Given the description of an element on the screen output the (x, y) to click on. 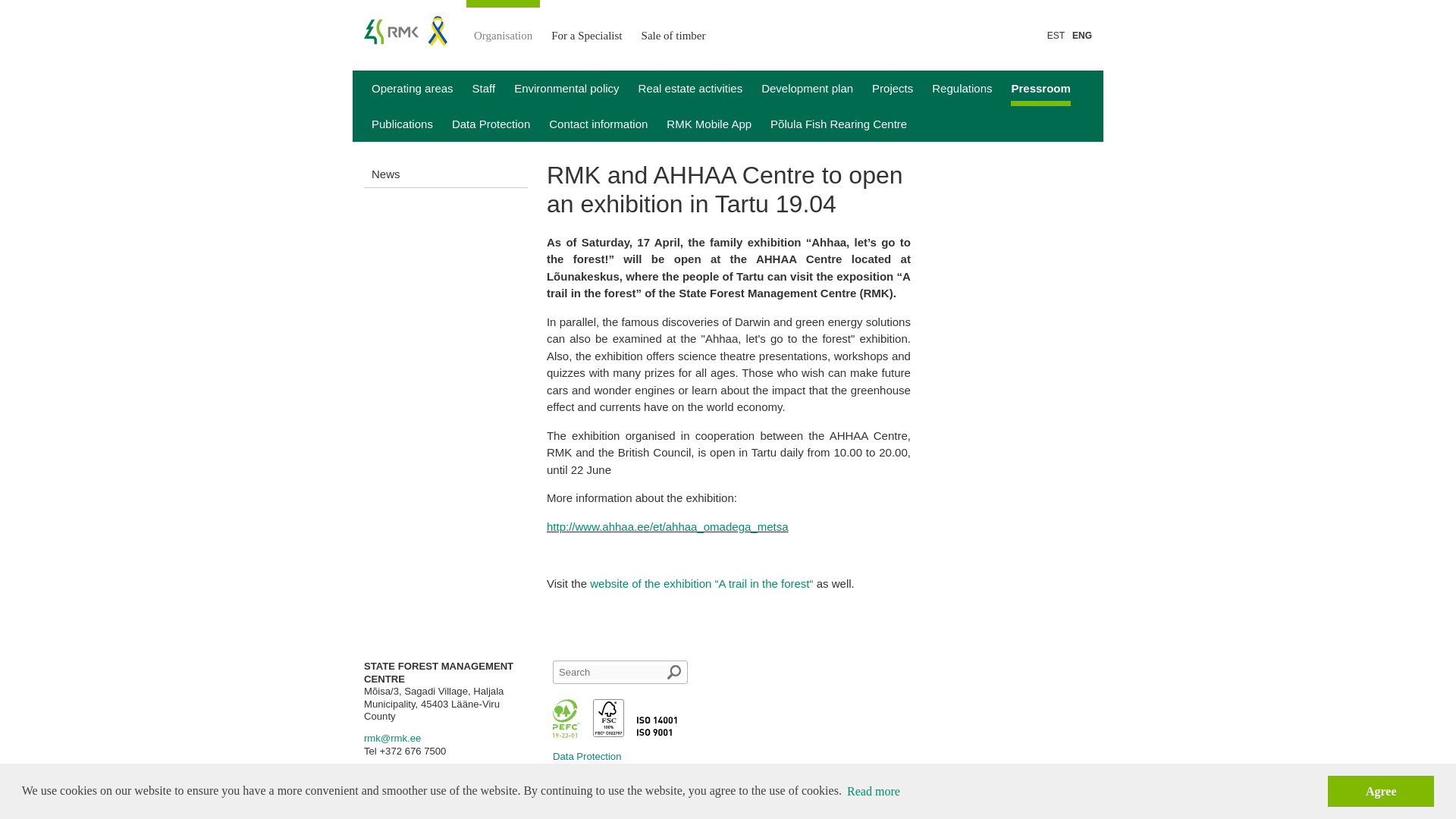
RMK Mobile App (708, 123)
Organisation (502, 25)
Sale of timber (673, 25)
For a Specialist (585, 25)
Contact information (597, 123)
Real estate activities (690, 88)
ENG (1081, 35)
Regulations (961, 88)
Projects (892, 88)
Pressroom (1040, 88)
Development plan (807, 88)
RMK (405, 30)
EST (1055, 35)
Publications (401, 123)
Environmental policy (565, 88)
